Given the description of an element on the screen output the (x, y) to click on. 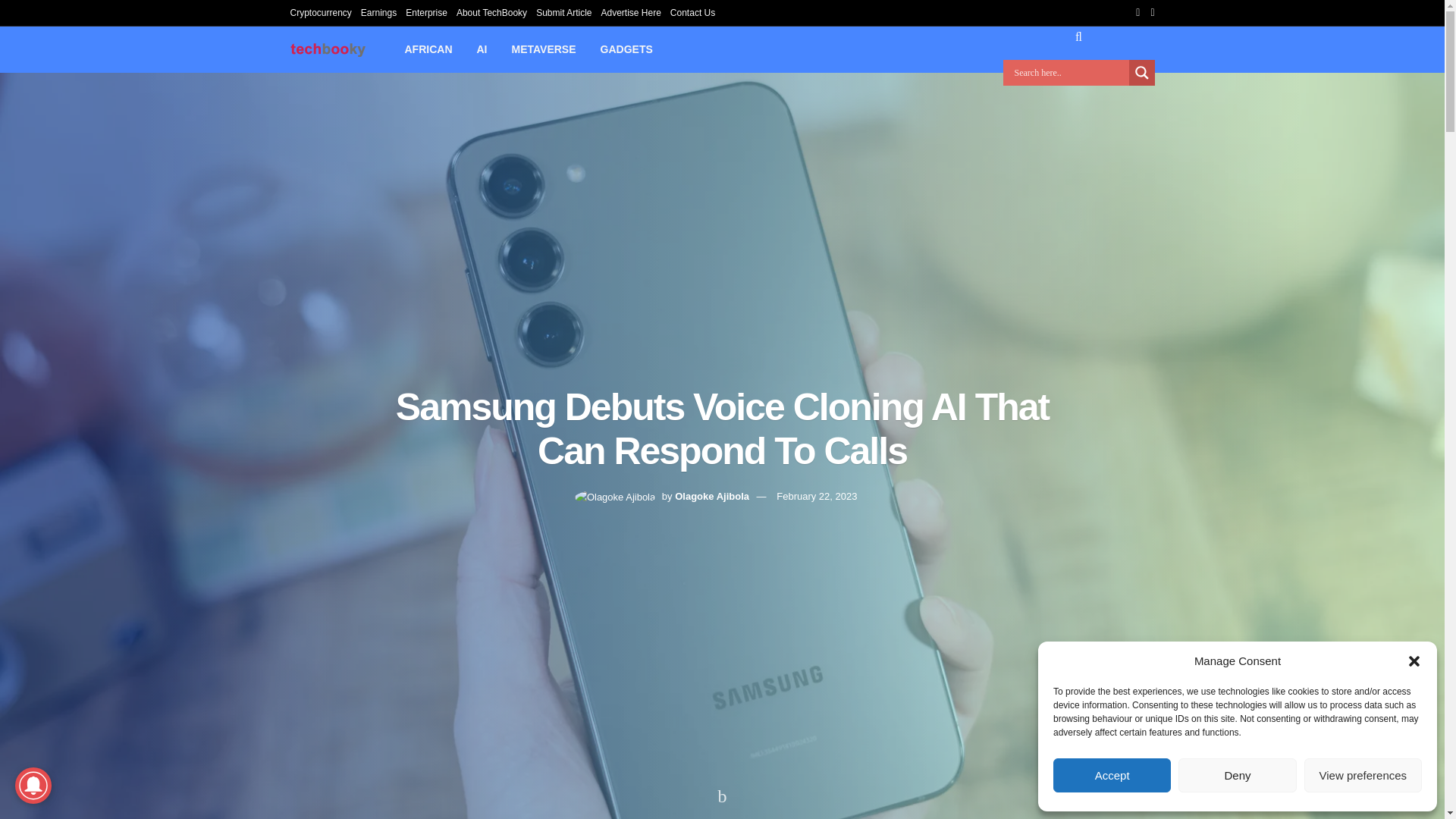
Contact Us (691, 12)
Cryptocurrency (319, 12)
About TechBooky (492, 12)
Enterprise (426, 12)
Deny (1236, 775)
Earnings (378, 12)
February 22, 2023 (816, 496)
Advertise Here (630, 12)
Accept (1111, 775)
Olagoke Ajibola (712, 496)
METAVERSE (543, 49)
AI (481, 49)
View preferences (1363, 775)
GADGETS (626, 49)
Submit Article (563, 12)
